Given the description of an element on the screen output the (x, y) to click on. 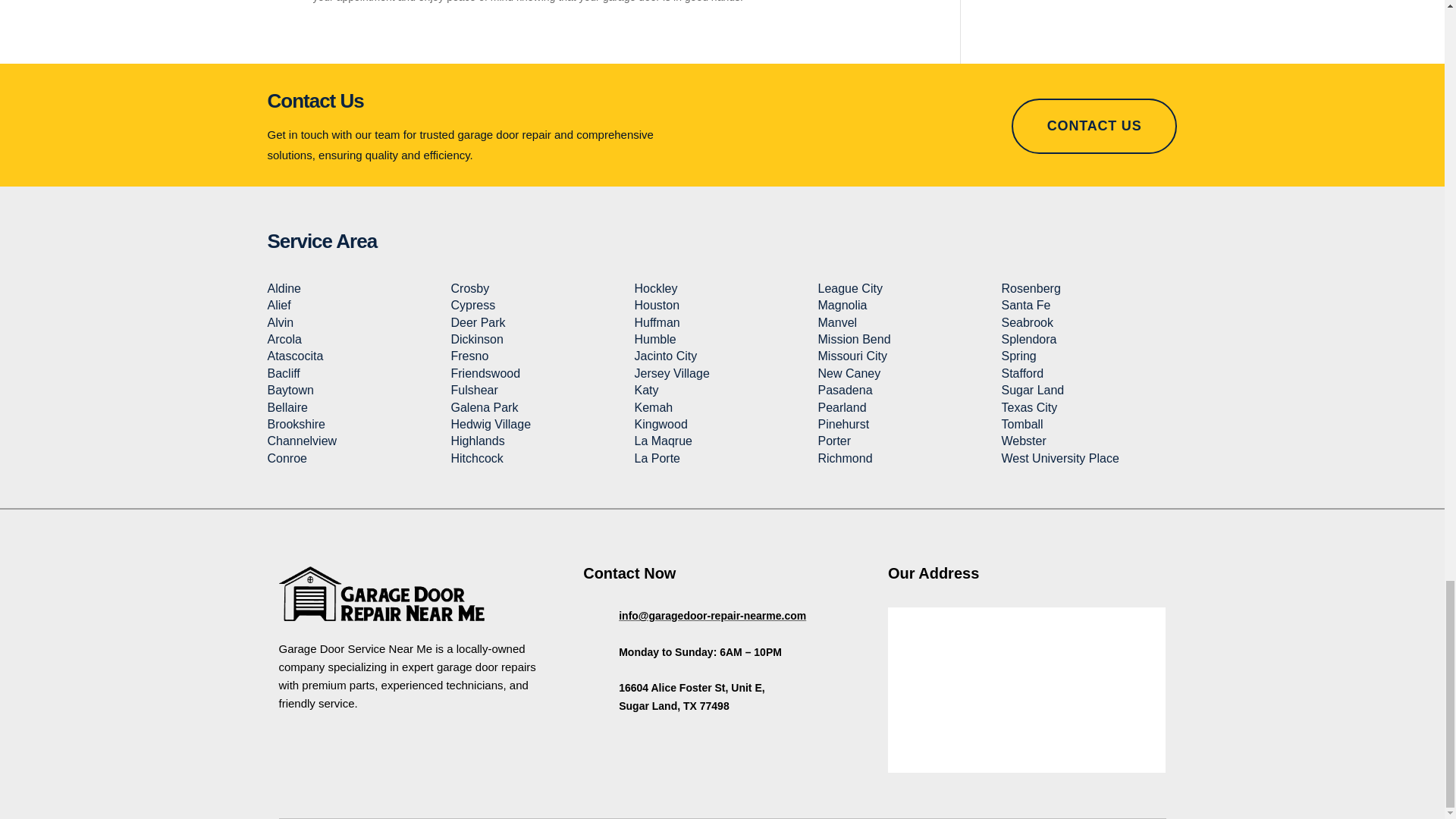
Channelview (301, 440)
Cypress (472, 305)
Alief (277, 305)
CONTACT US (1094, 125)
Brookshire (295, 423)
Dickinson (475, 338)
Deer Park (477, 322)
Friendswood (484, 373)
Fresno (468, 355)
Crosby (469, 287)
